Given the description of an element on the screen output the (x, y) to click on. 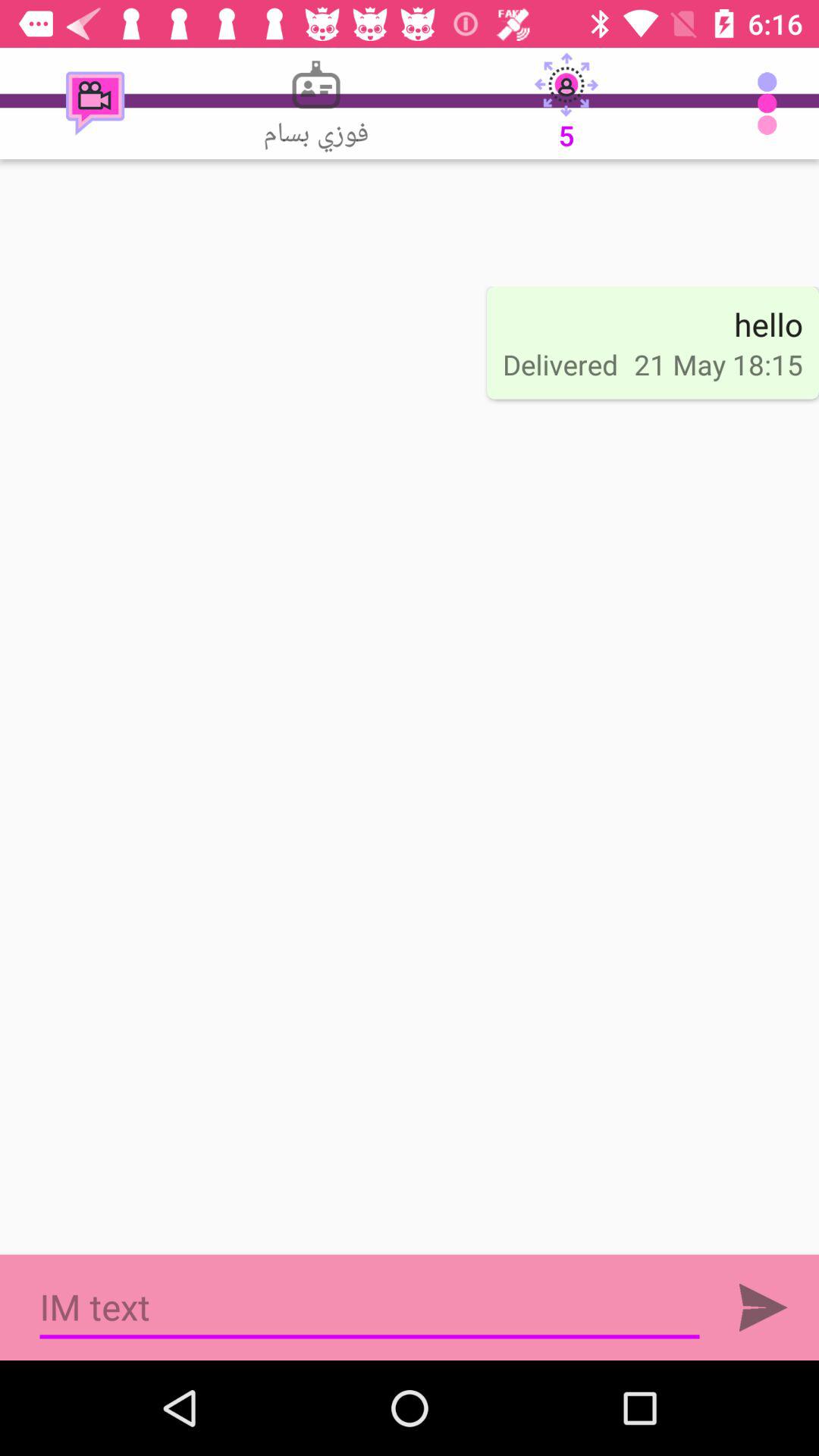
send message (763, 1307)
